Given the description of an element on the screen output the (x, y) to click on. 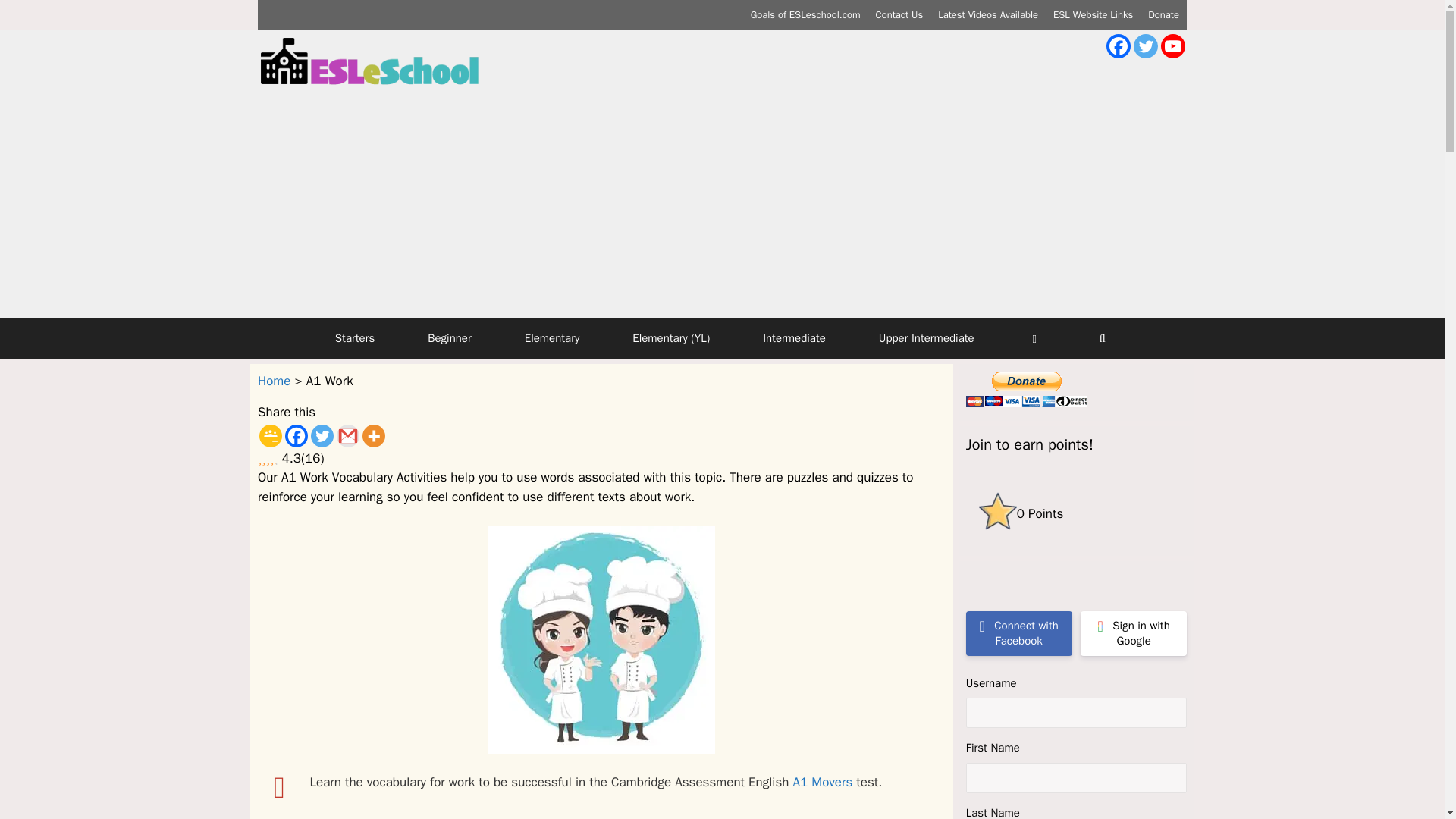
Twitter (1145, 45)
A1 Movers (821, 781)
Intermediate (793, 338)
Google Gmail (347, 436)
Upper Intermediate (926, 338)
Youtube Channel (1172, 45)
Beginner (449, 338)
Starters (354, 338)
Goals of ESLeschool.com (805, 14)
ESL Website Links (1092, 14)
Twitter (322, 436)
Facebook (1118, 45)
Home (273, 381)
Elementary (552, 338)
Contact Us (899, 14)
